Given the description of an element on the screen output the (x, y) to click on. 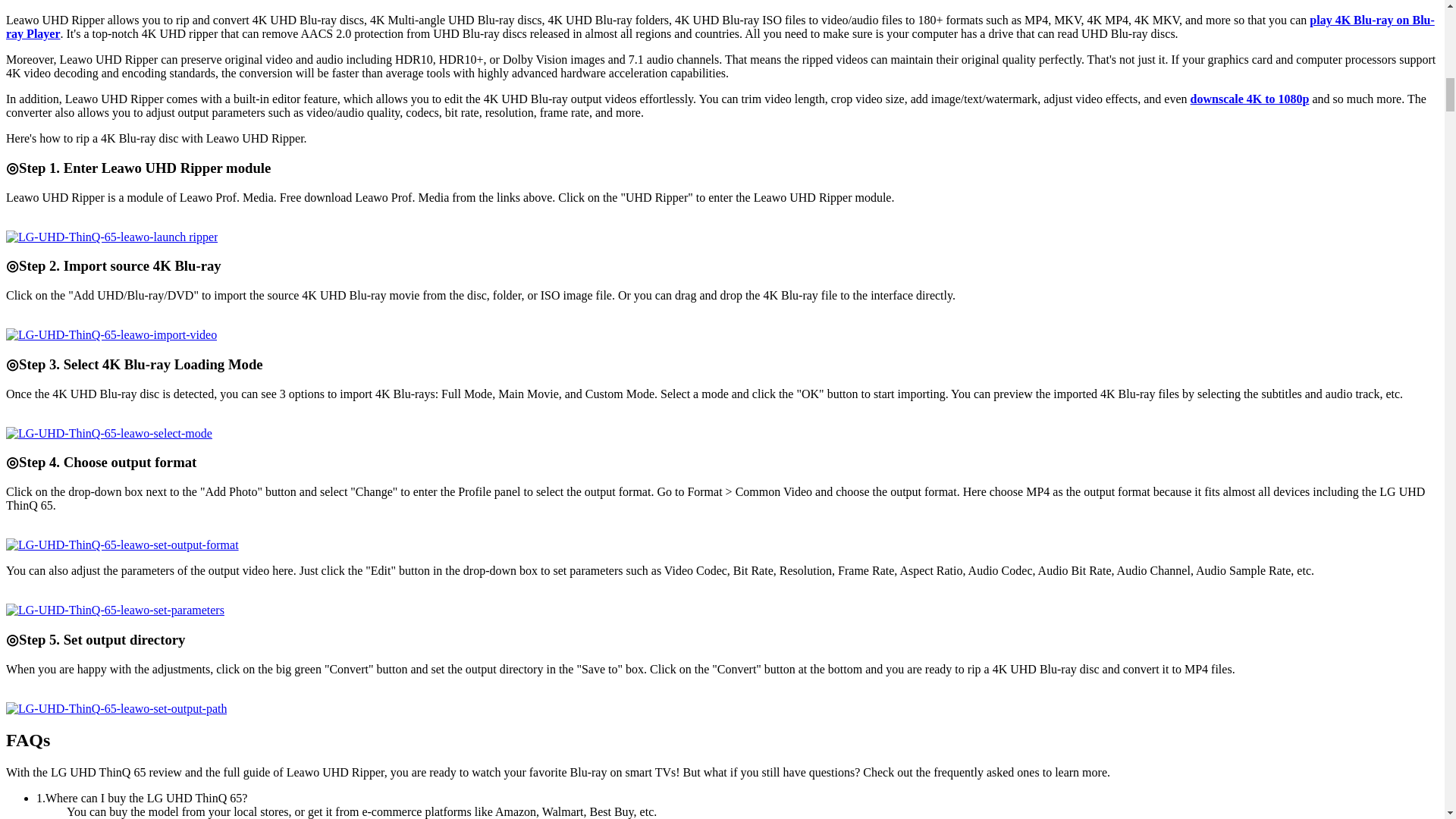
downscale 4K to 1080p (1249, 98)
